Given the description of an element on the screen output the (x, y) to click on. 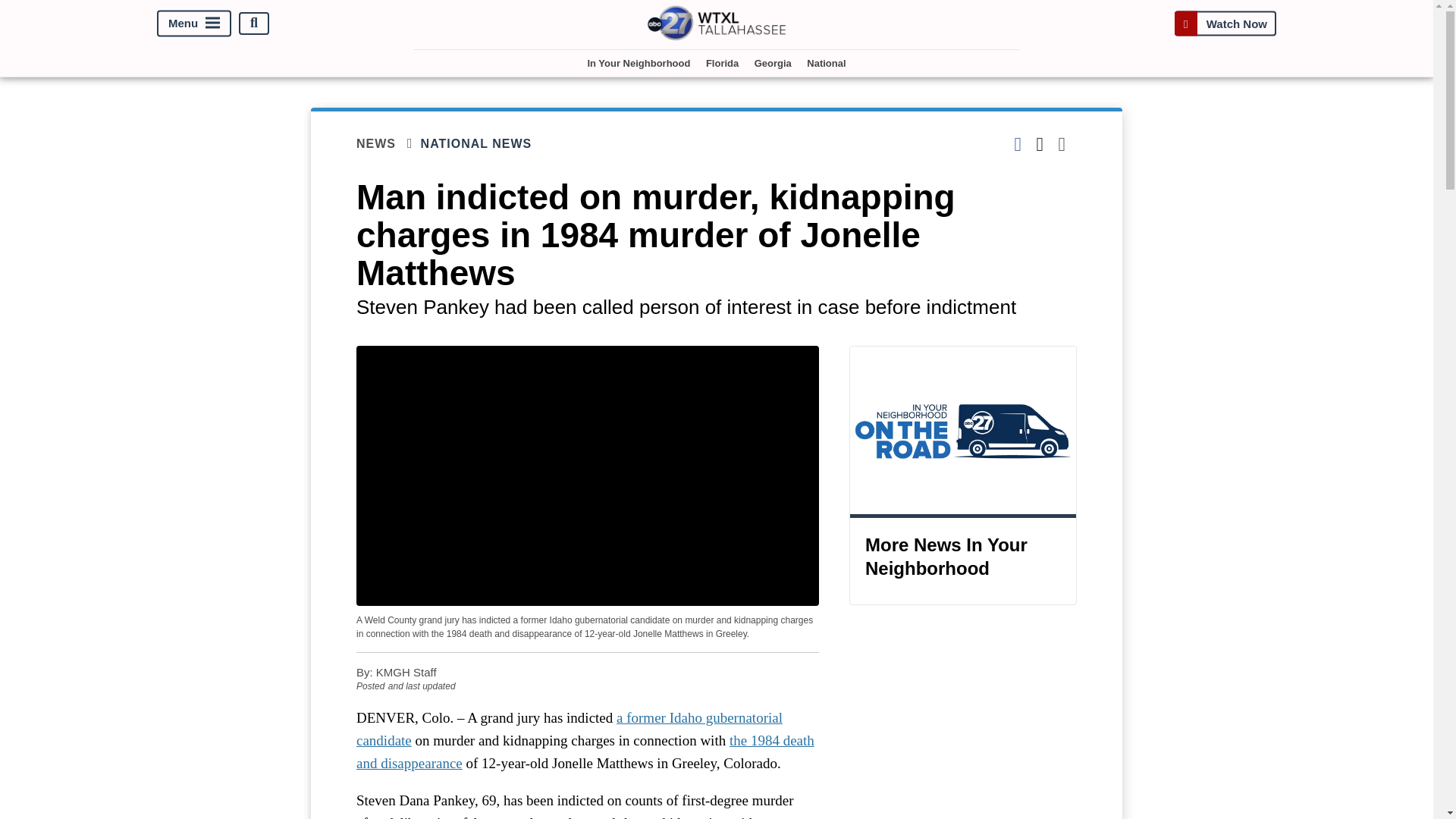
Watch Now (1224, 22)
Menu (194, 22)
